Given the description of an element on the screen output the (x, y) to click on. 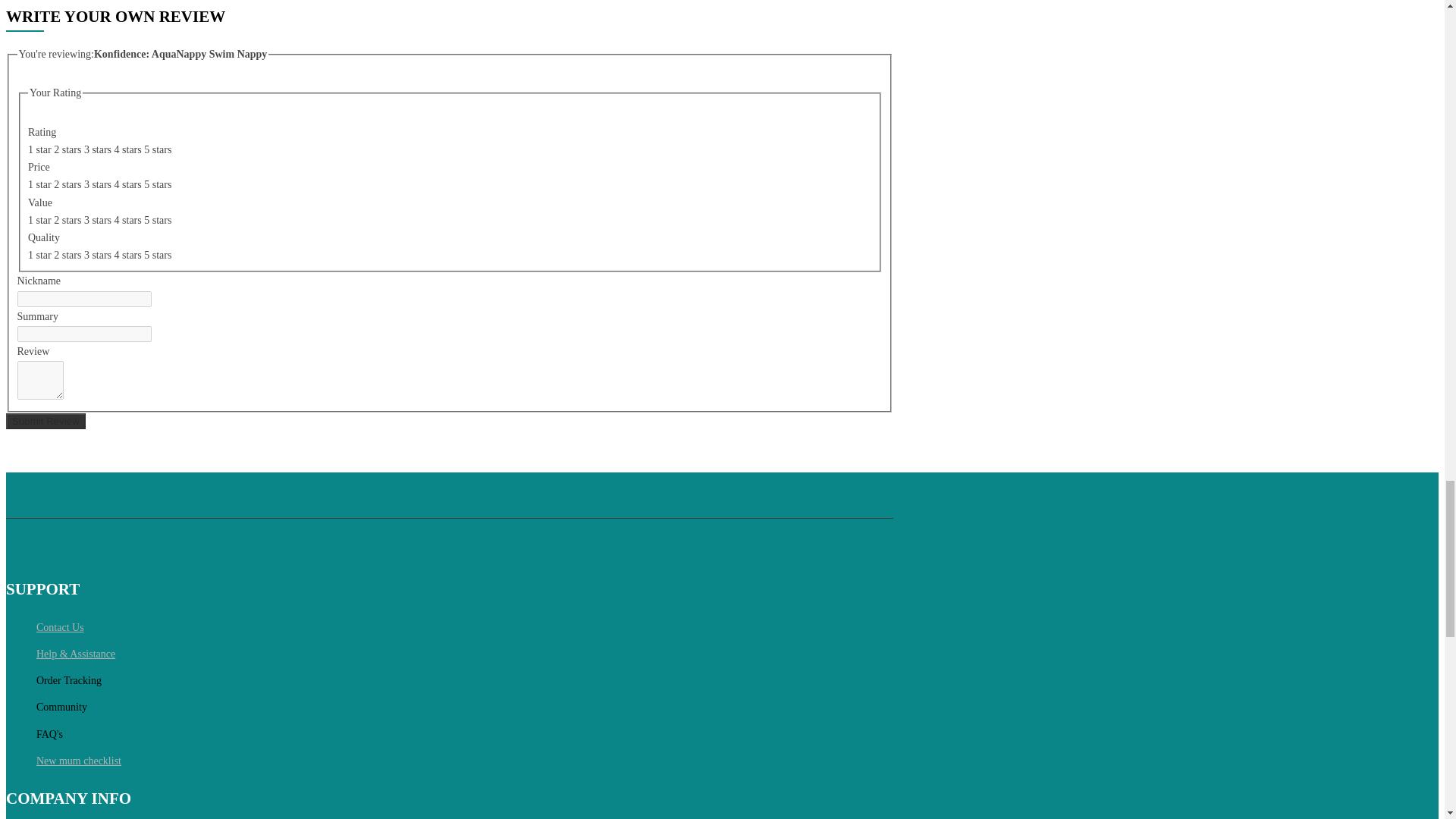
1 star (40, 149)
4 stars (129, 149)
2 stars (68, 149)
3 stars (99, 149)
